Given the description of an element on the screen output the (x, y) to click on. 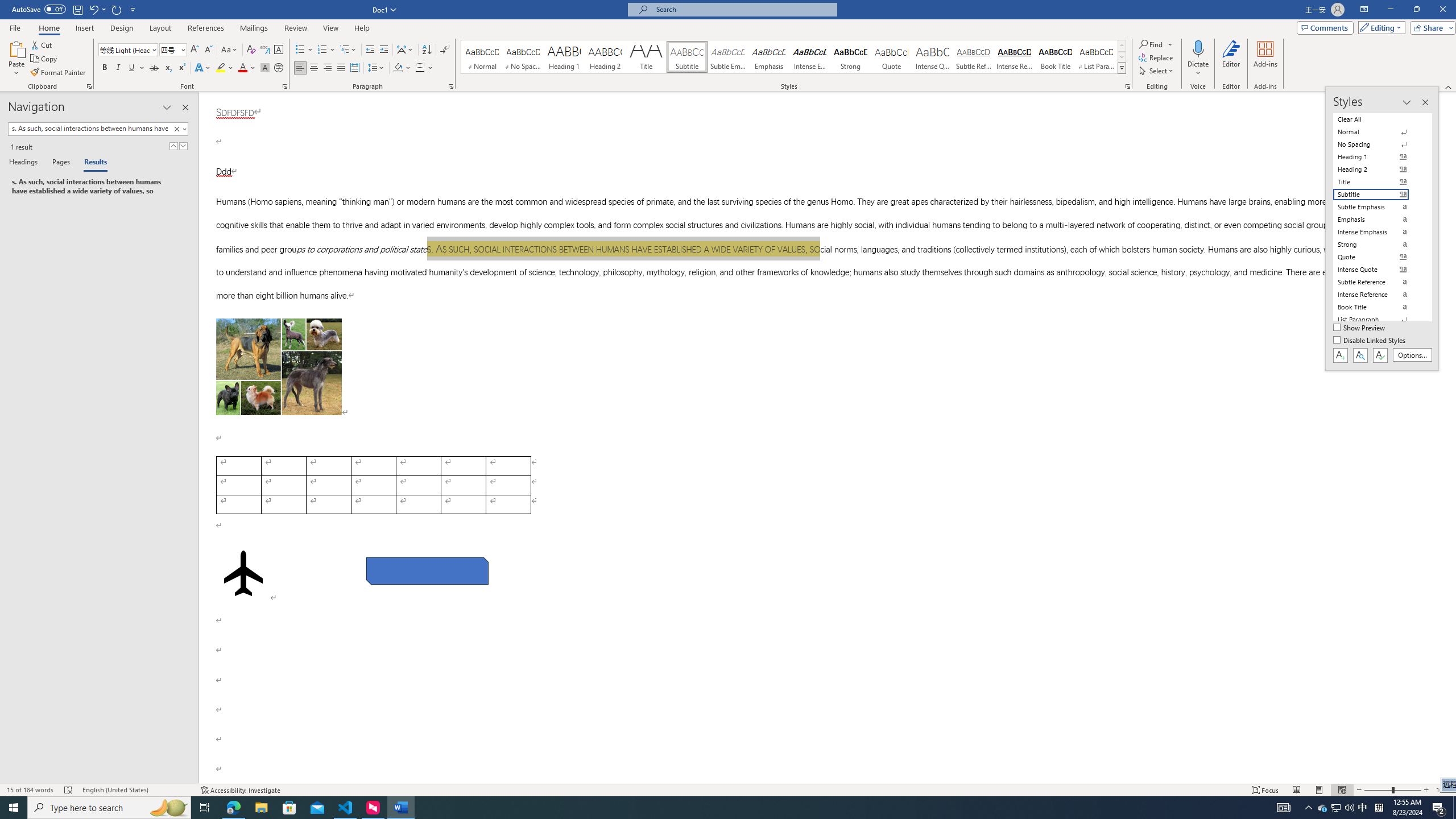
Class: NetUIImage (1121, 68)
Superscript (180, 67)
Zoom In (1426, 790)
Share (1430, 27)
Spelling and Grammar Check Errors (68, 790)
Format Painter (58, 72)
Close (1442, 9)
Show/Hide Editing Marks (444, 49)
Previous Result (173, 145)
Clear (178, 128)
Line and Paragraph Spacing (376, 67)
Collapse the Ribbon (1448, 86)
Airplane with solid fill (242, 573)
Bullets (300, 49)
